Given the description of an element on the screen output the (x, y) to click on. 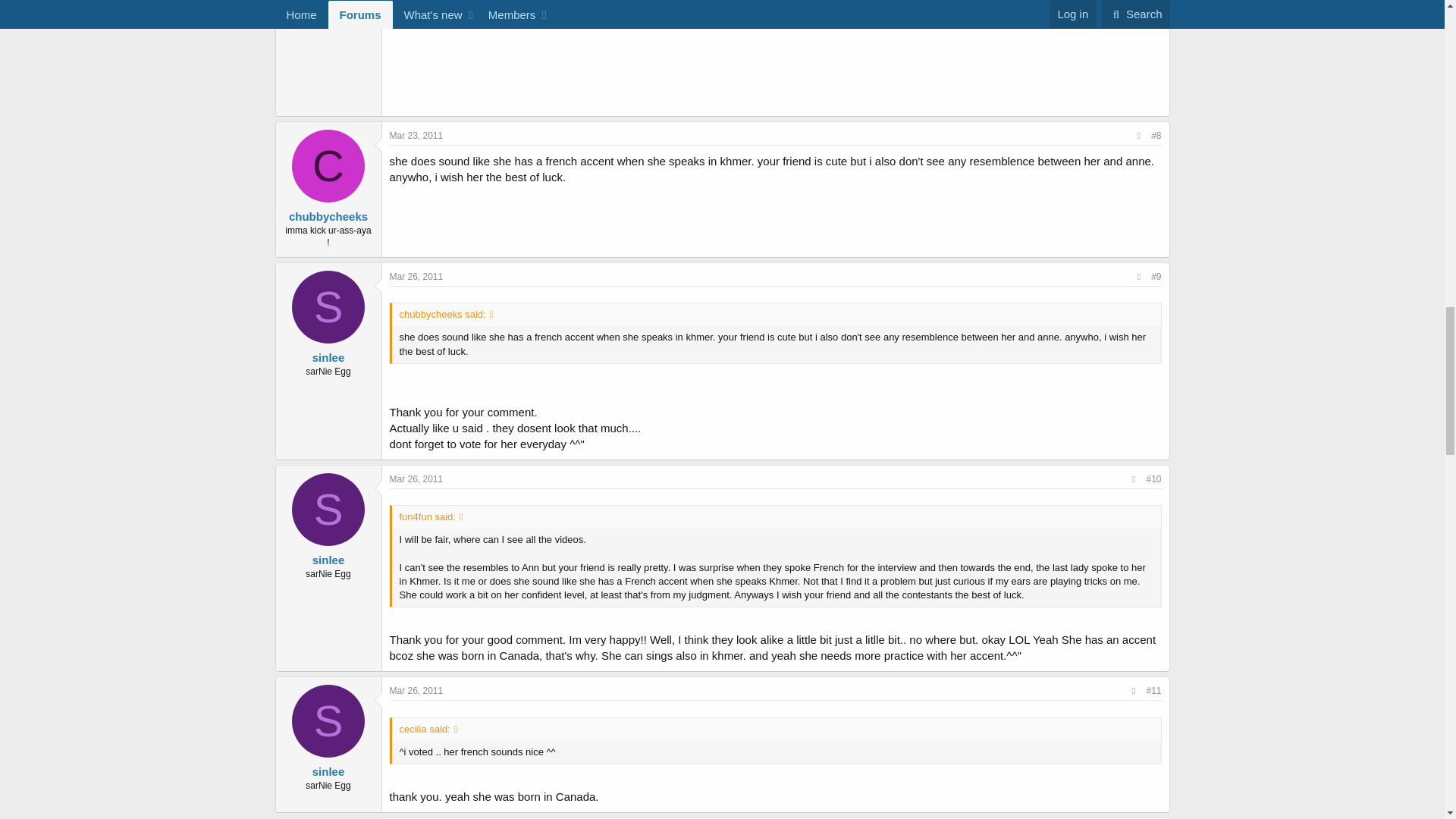
Mar 23, 2011 at 12:55 PM (417, 135)
Mar 26, 2011 at 3:26 PM (417, 690)
Mar 26, 2011 at 3:25 PM (417, 479)
Mar 26, 2011 at 3:21 PM (417, 276)
